Given the description of an element on the screen output the (x, y) to click on. 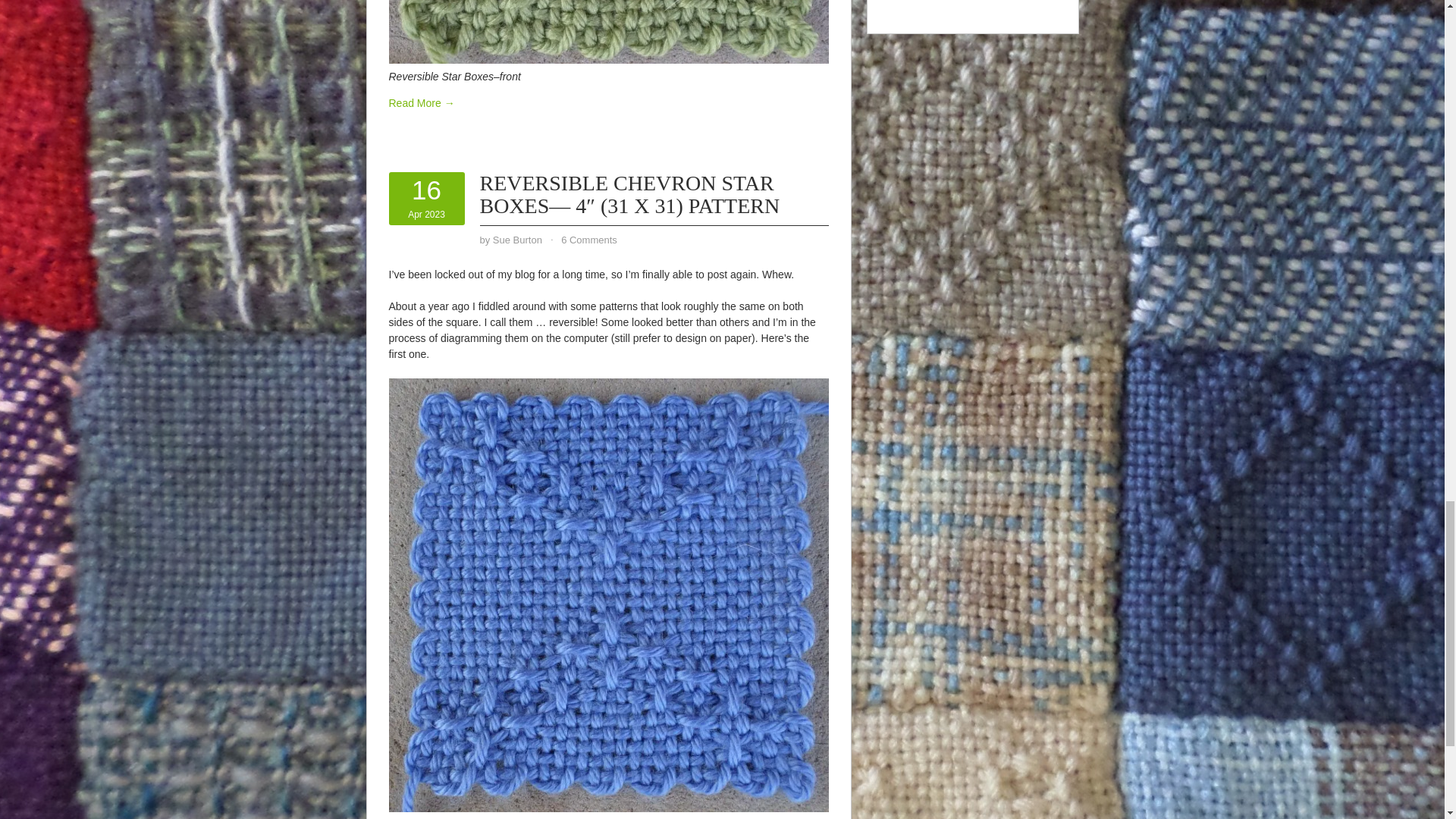
16 April 2023 10:36 PM (426, 198)
6 Comments (588, 239)
Sue Burton (517, 239)
by Sue Burton (426, 198)
